Given the description of an element on the screen output the (x, y) to click on. 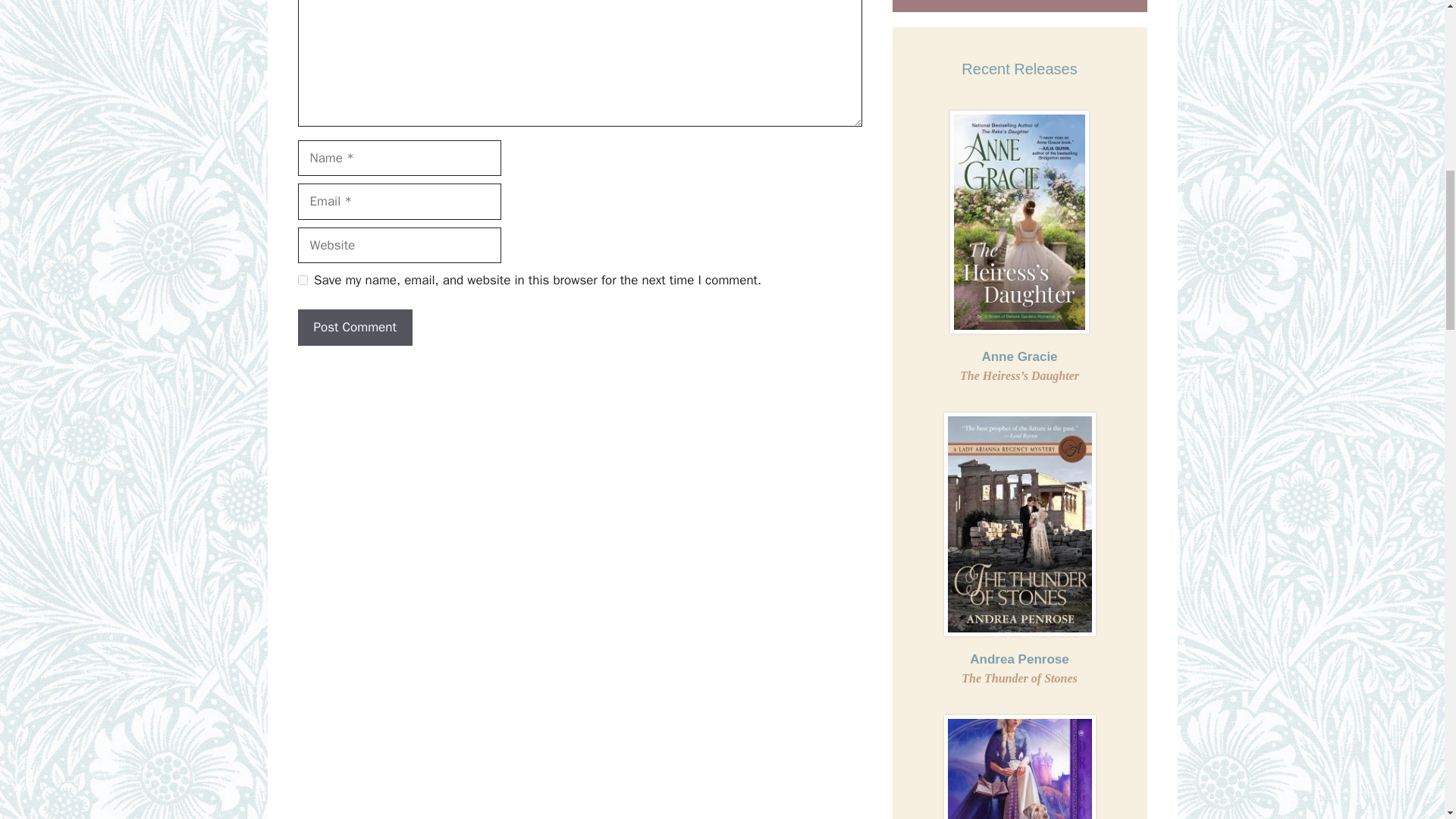
yes (302, 280)
Post Comment (354, 327)
Post Comment (1018, 668)
